Given the description of an element on the screen output the (x, y) to click on. 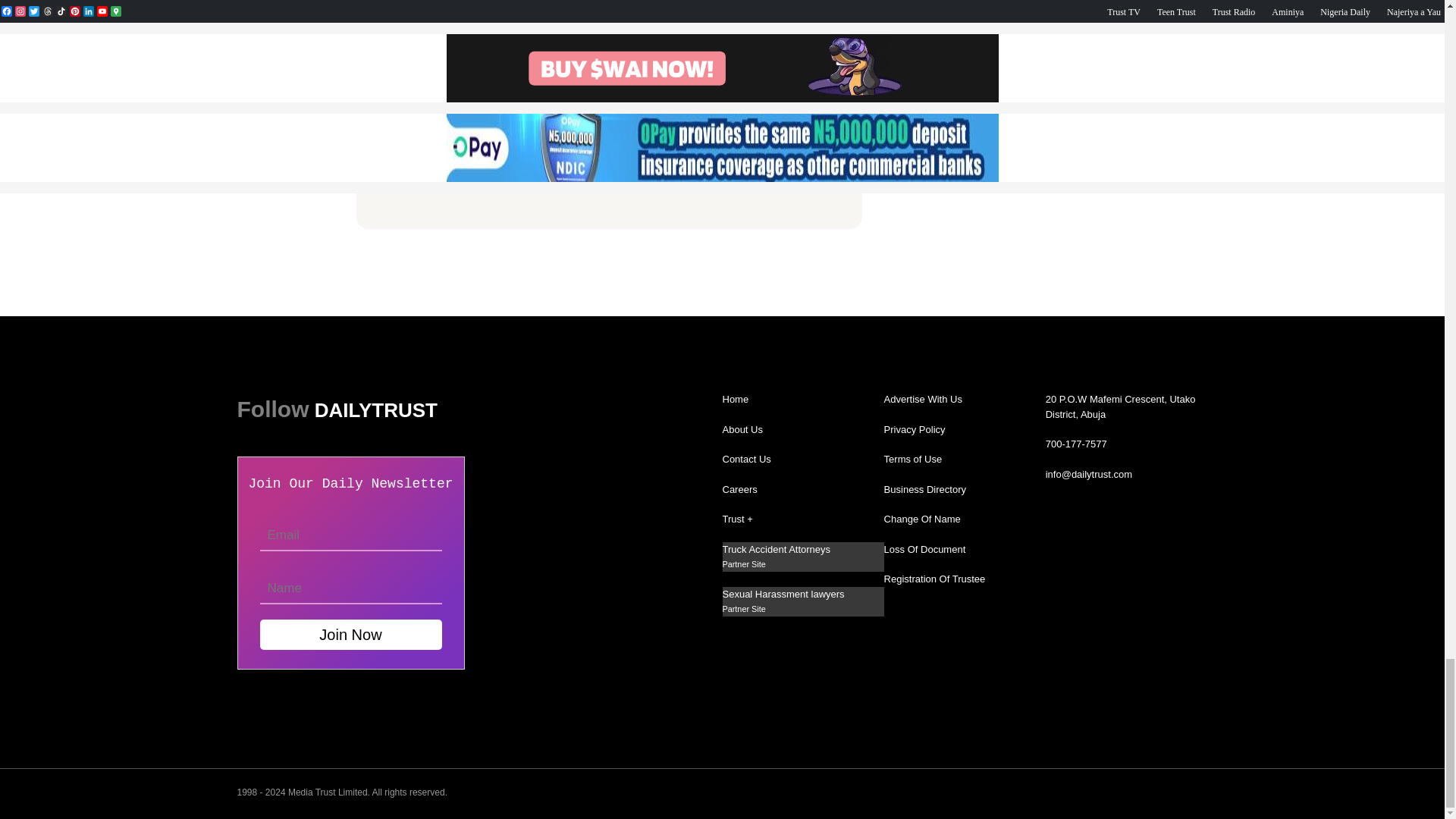
Join Now (350, 634)
